Given the description of an element on the screen output the (x, y) to click on. 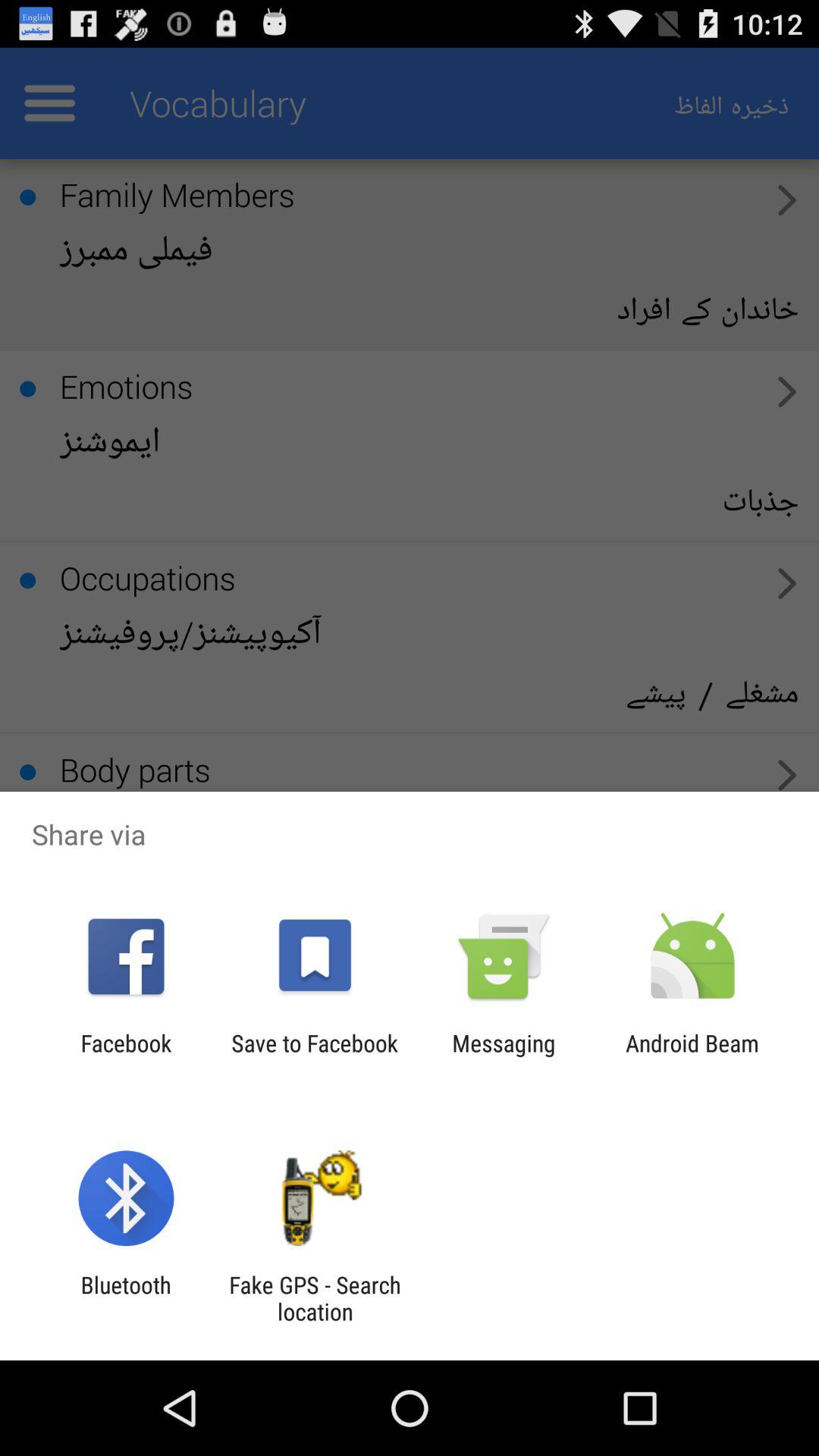
tap the item to the left of the messaging icon (314, 1056)
